Given the description of an element on the screen output the (x, y) to click on. 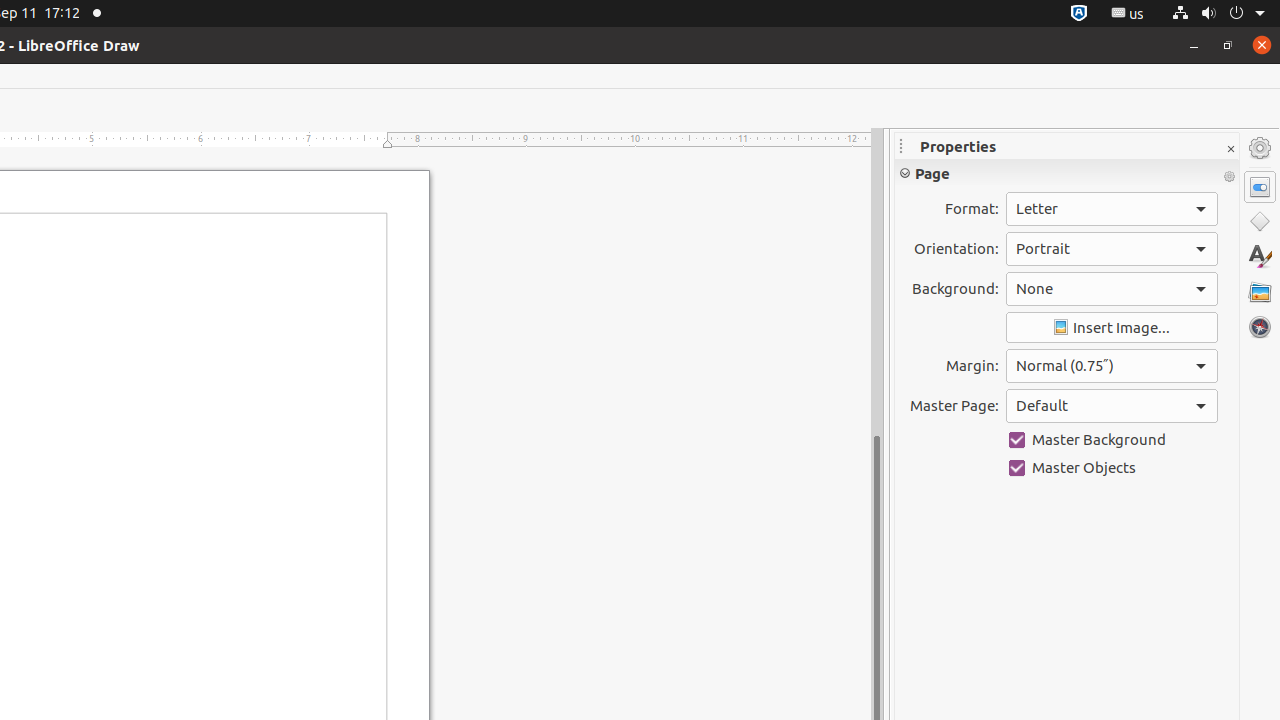
Styles Element type: radio-button (1260, 256)
:1.72/StatusNotifierItem Element type: menu (1079, 13)
Background: Element type: combo-box (1112, 289)
Format: Element type: combo-box (1112, 209)
Margin: Element type: combo-box (1112, 366)
